Given the description of an element on the screen output the (x, y) to click on. 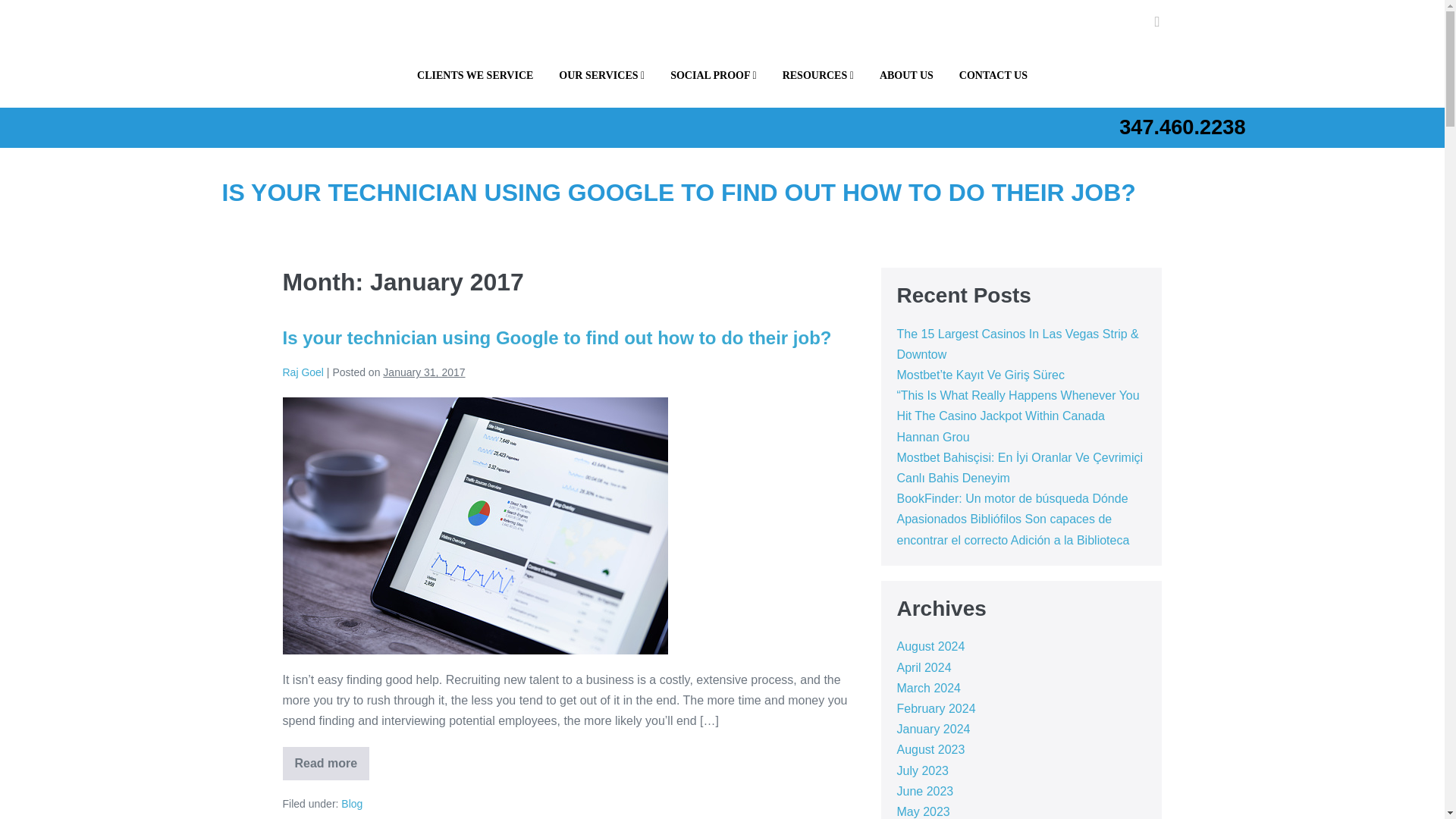
OUR SERVICES (602, 75)
ABOUT US (906, 75)
CLIENTS WE SERVICE (475, 75)
347.460.2238 (1181, 126)
View all posts by Raj Goel (302, 372)
SOCIAL PROOF (714, 75)
CONTACT US (993, 75)
RESOURCES (818, 75)
